Given the description of an element on the screen output the (x, y) to click on. 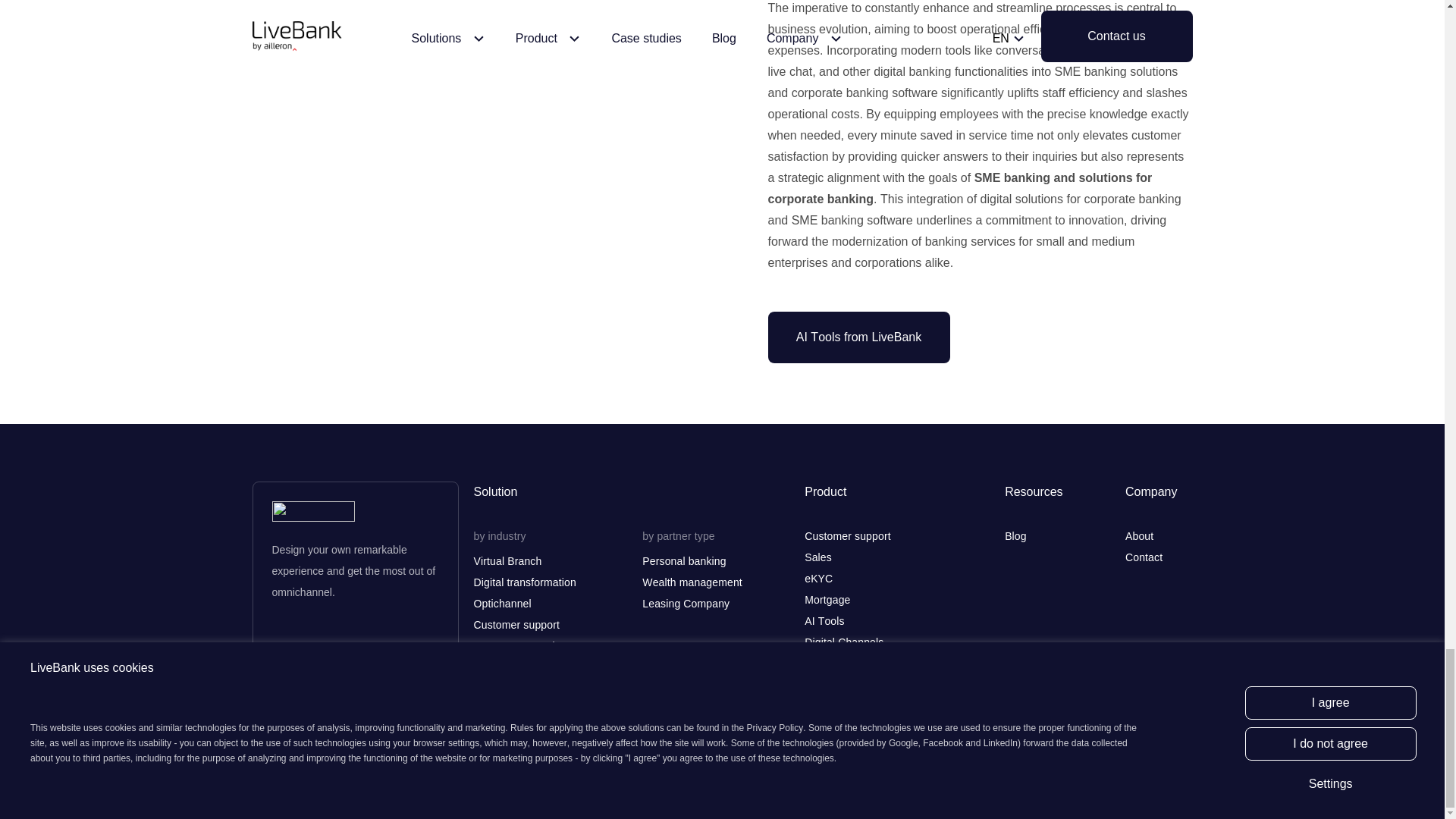
Ailleron (398, 785)
